Given the description of an element on the screen output the (x, y) to click on. 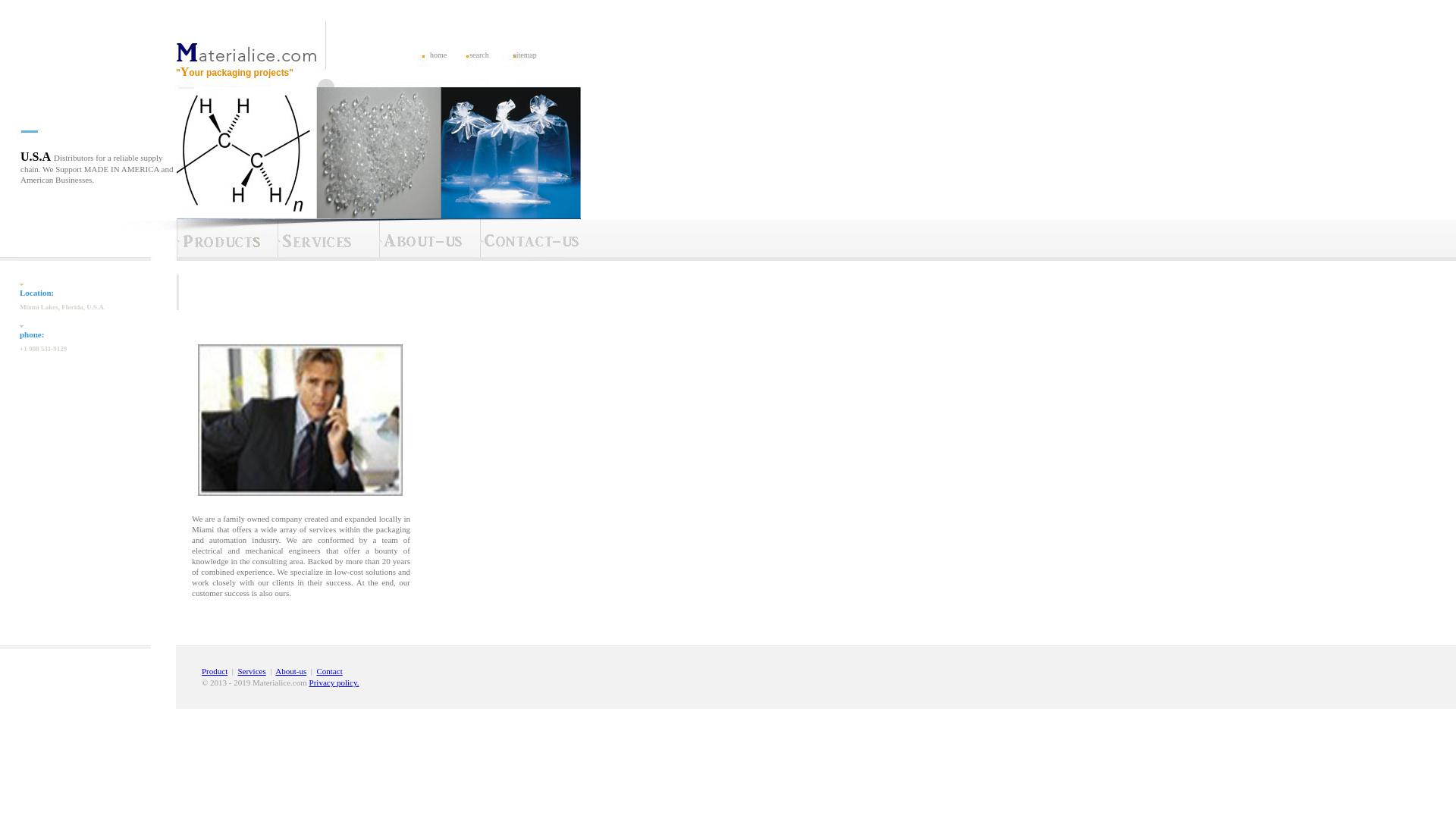
Privacy policy. (333, 682)
Services (250, 670)
search (478, 54)
Product (214, 670)
sitemap (525, 54)
About-us (290, 670)
home (437, 54)
Contact (328, 670)
